Given the description of an element on the screen output the (x, y) to click on. 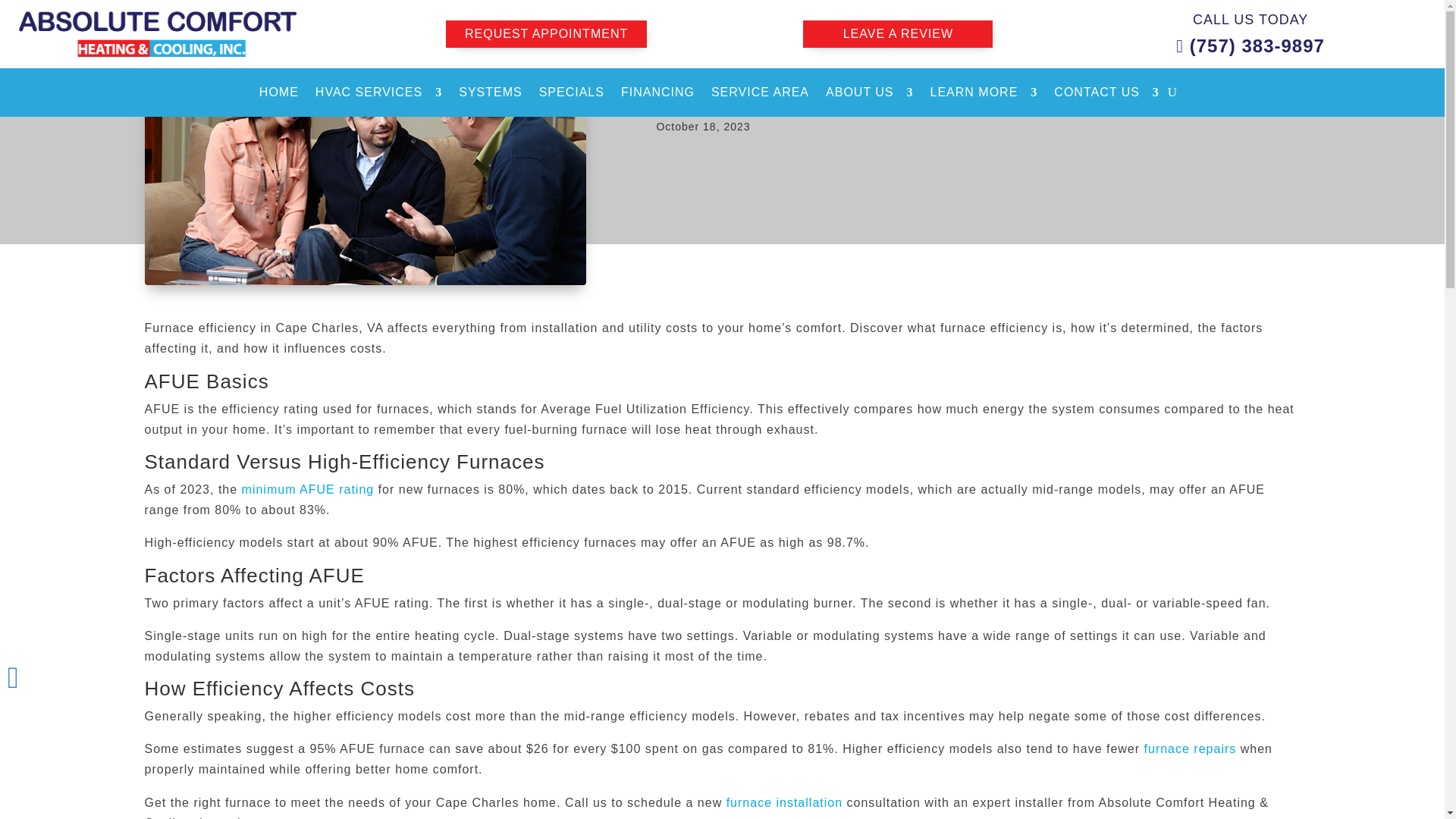
LEAVE A REVIEW (897, 33)
REQUEST APPOINTMENT (545, 33)
